Given the description of an element on the screen output the (x, y) to click on. 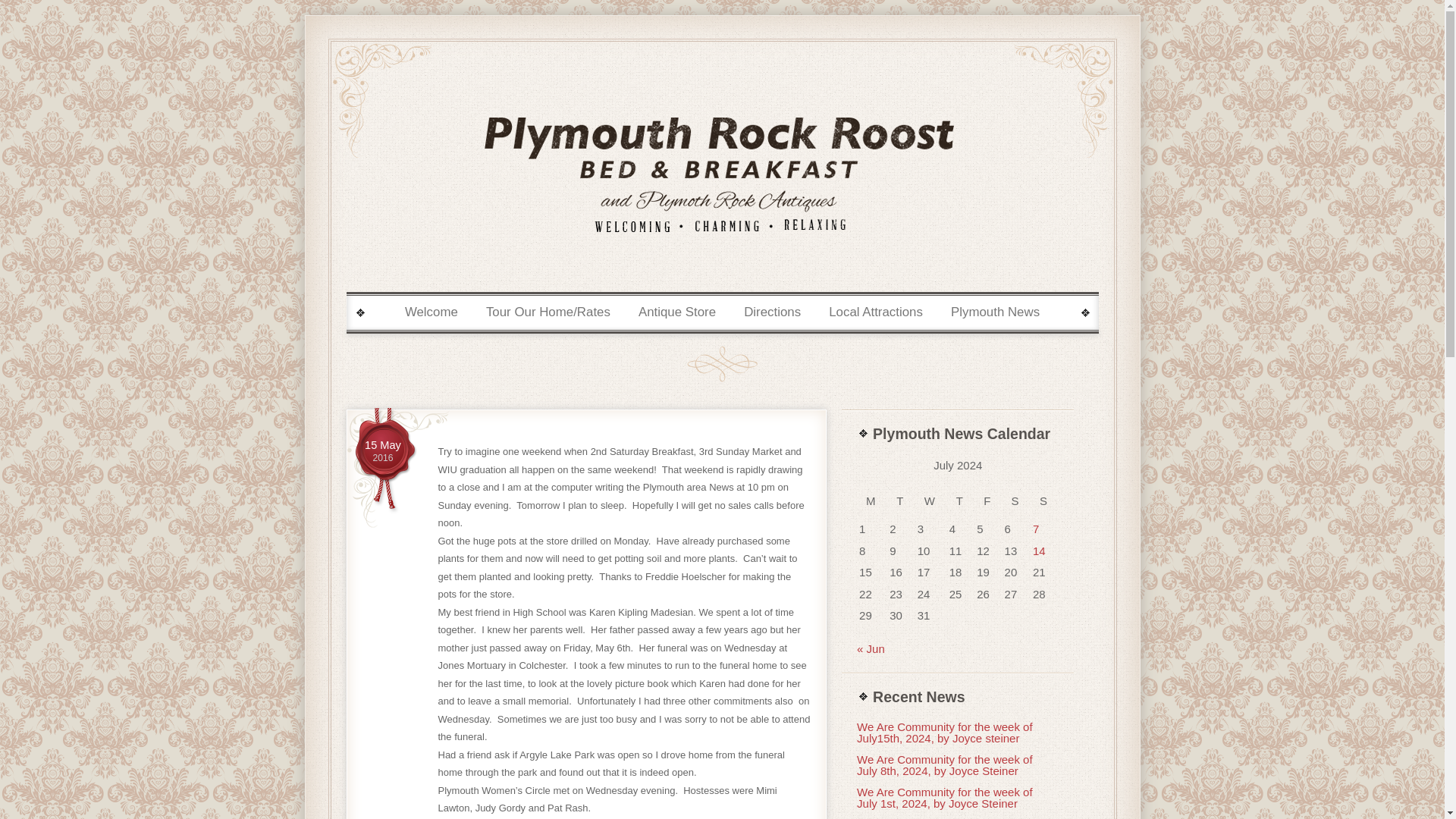
Welcome (383, 451)
Local Attractions (430, 312)
Plymouth News (875, 312)
10:40 pm (995, 312)
Antique Store (383, 451)
Wednesday (677, 312)
Directions (931, 501)
